Given the description of an element on the screen output the (x, y) to click on. 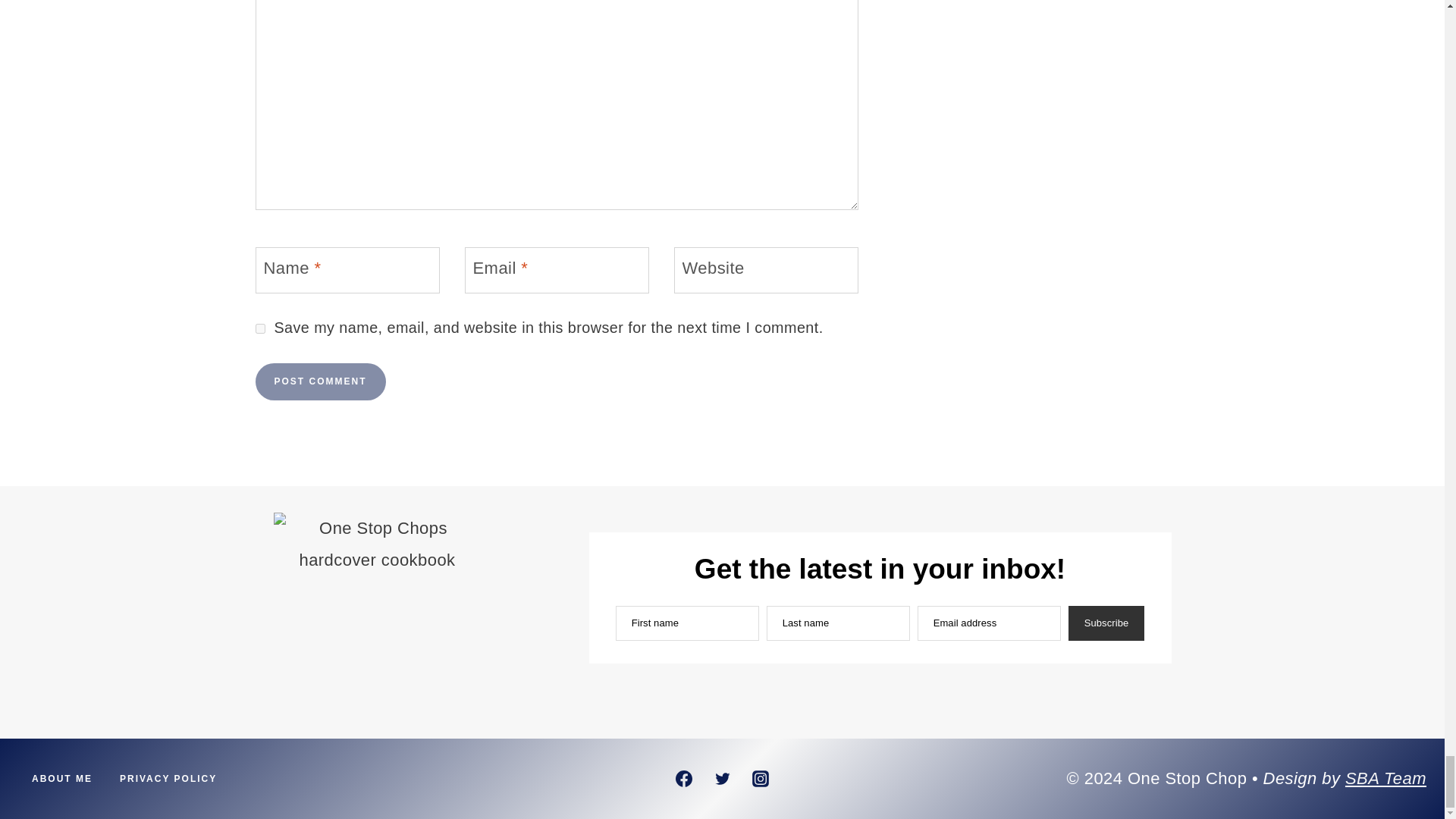
Post Comment (319, 381)
yes (259, 328)
